Given the description of an element on the screen output the (x, y) to click on. 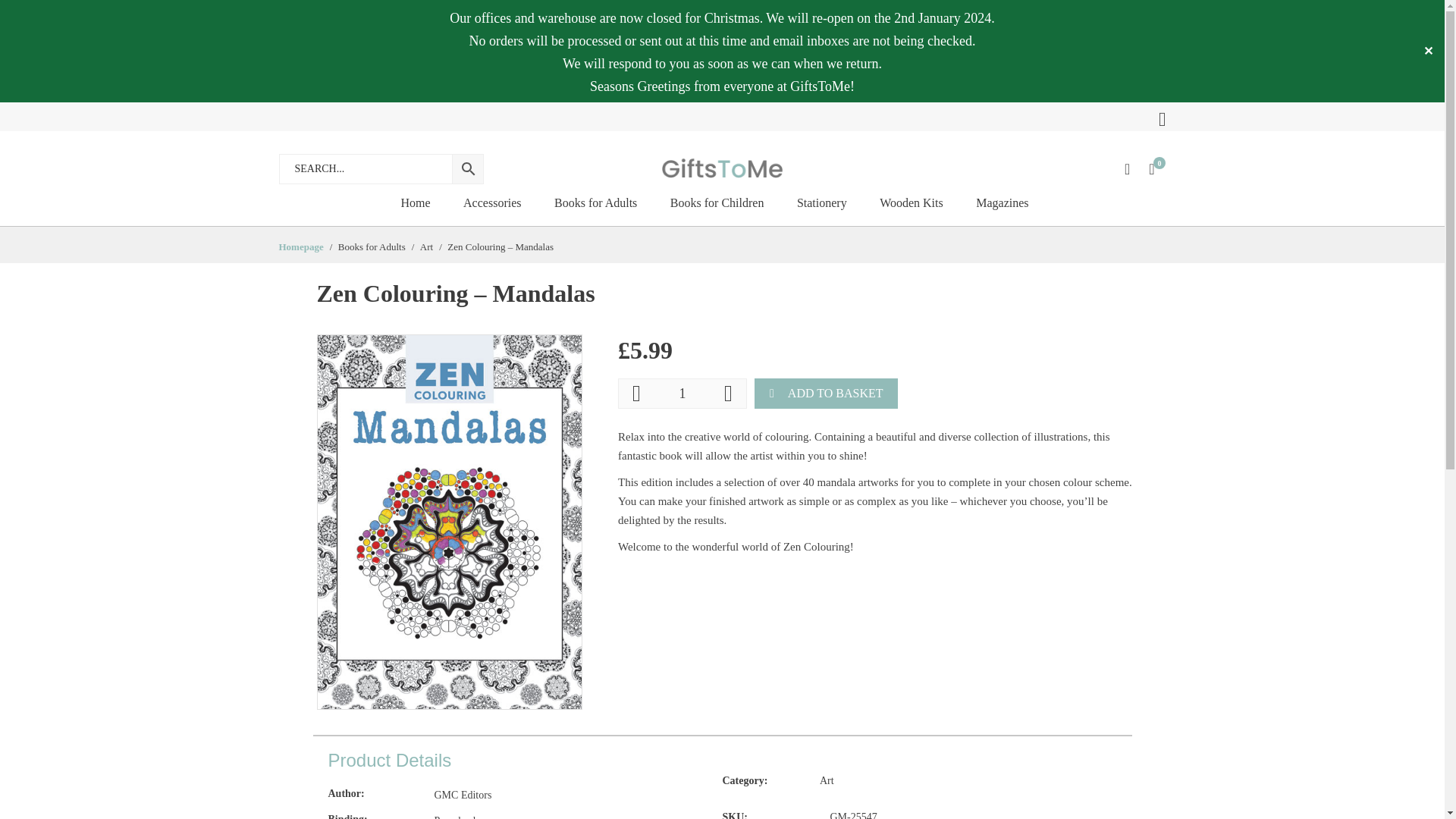
1 (681, 393)
